Given the description of an element on the screen output the (x, y) to click on. 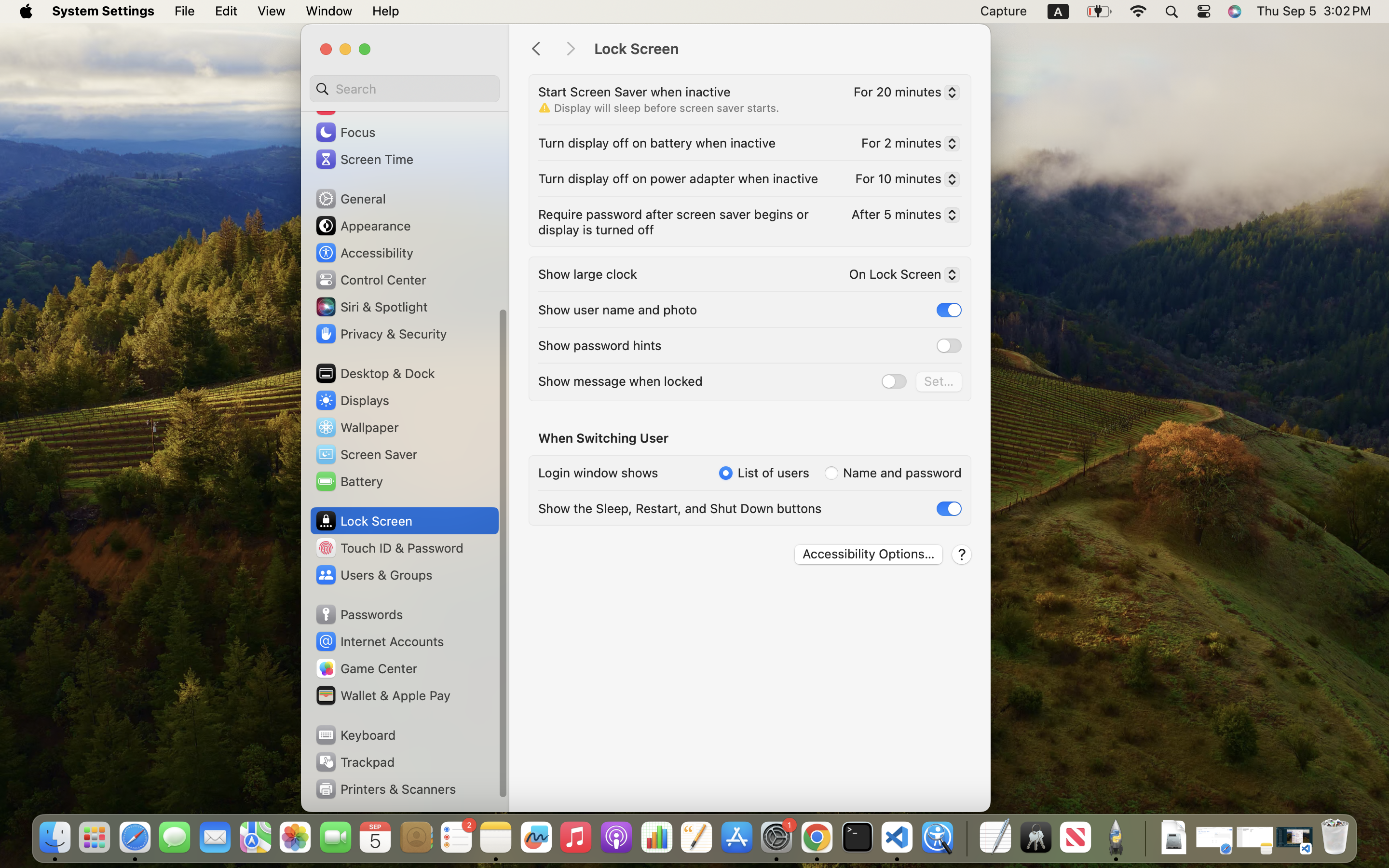
Control Center Element type: AXStaticText (370, 279)
Siri & Spotlight Element type: AXStaticText (370, 306)
For 2 minutes Element type: AXPopUpButton (906, 145)
Sound Element type: AXStaticText (346, 104)
Turn display off on power adapter when inactive Element type: AXStaticText (677, 178)
